Given the description of an element on the screen output the (x, y) to click on. 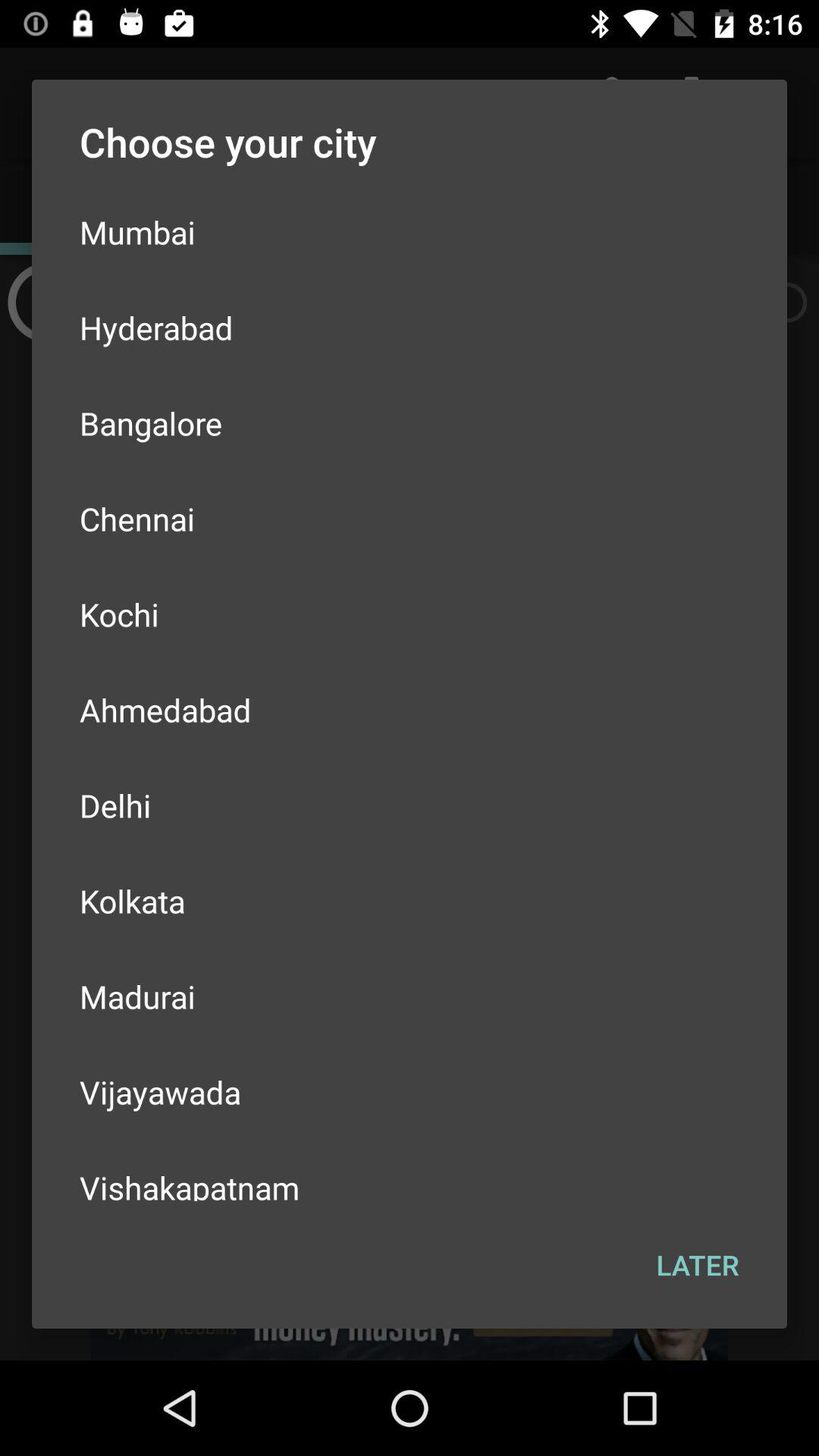
select icon below hyderabad (409, 422)
